Given the description of an element on the screen output the (x, y) to click on. 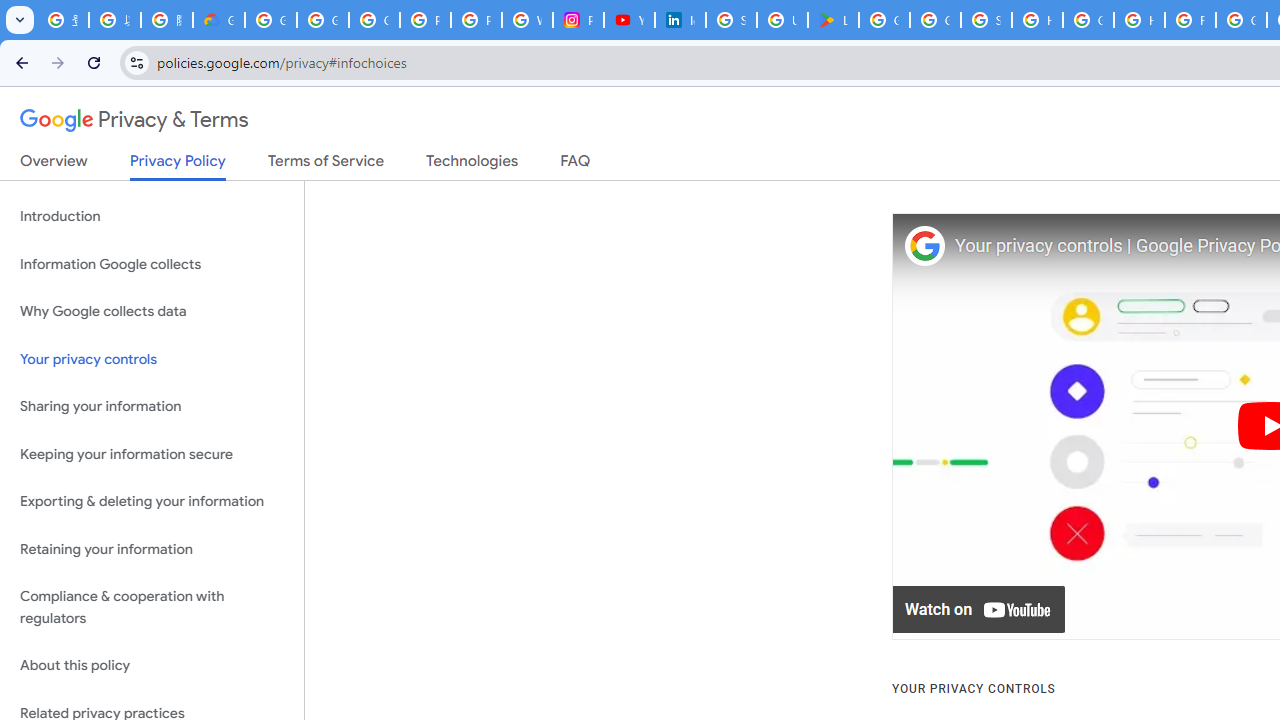
Privacy Help Center - Policies Help (475, 20)
Exporting & deleting your information (152, 502)
About this policy (152, 666)
Sign in - Google Accounts (986, 20)
Your privacy controls (152, 358)
Retaining your information (152, 548)
How do I create a new Google Account? - Google Account Help (1138, 20)
